Given the description of an element on the screen output the (x, y) to click on. 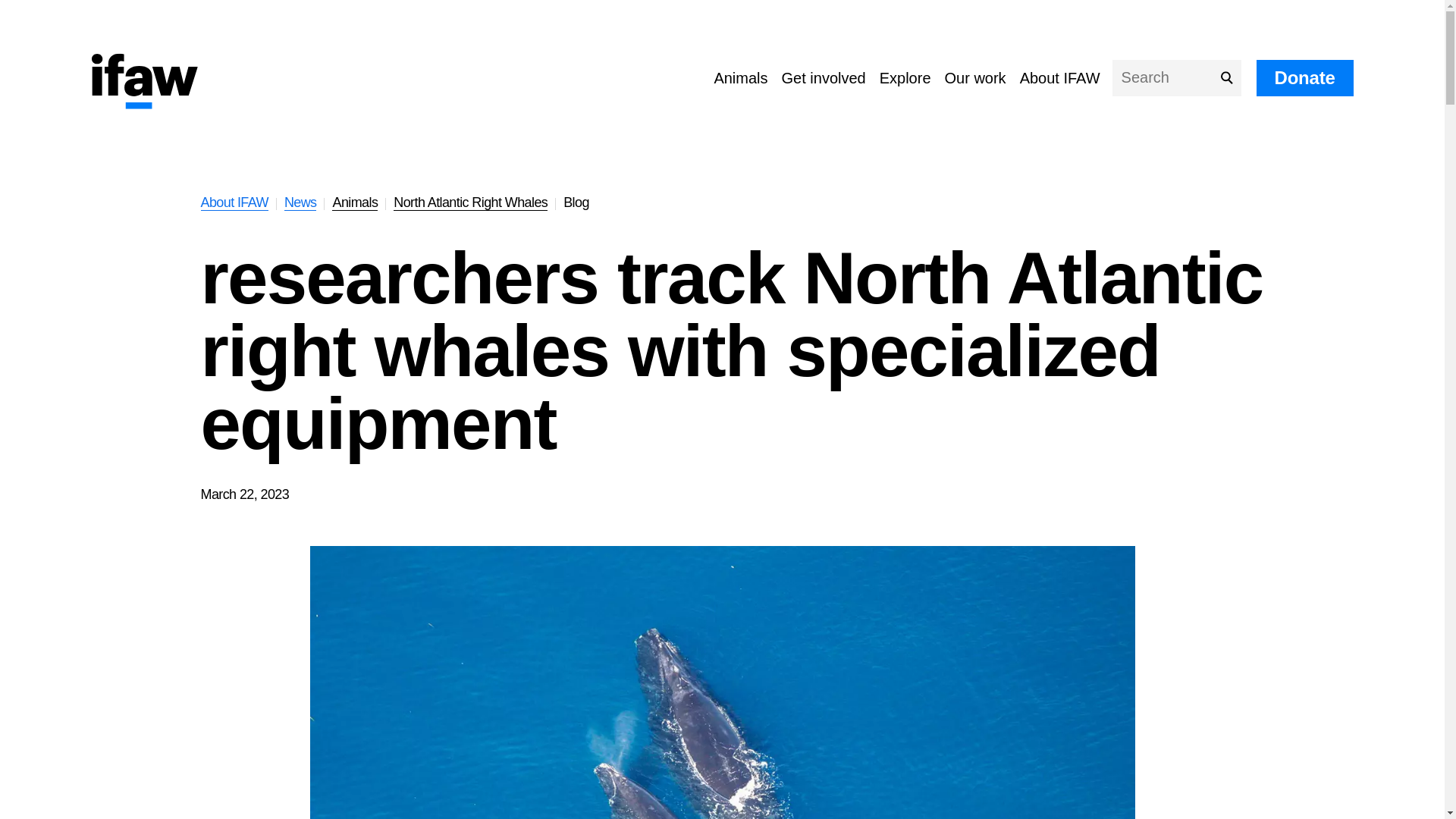
Get involved (823, 77)
News (300, 202)
About IFAW (233, 202)
North Atlantic Right Whales (470, 202)
About IFAW (1059, 77)
Donate (1305, 77)
Our work (975, 77)
Explore (905, 77)
